Given the description of an element on the screen output the (x, y) to click on. 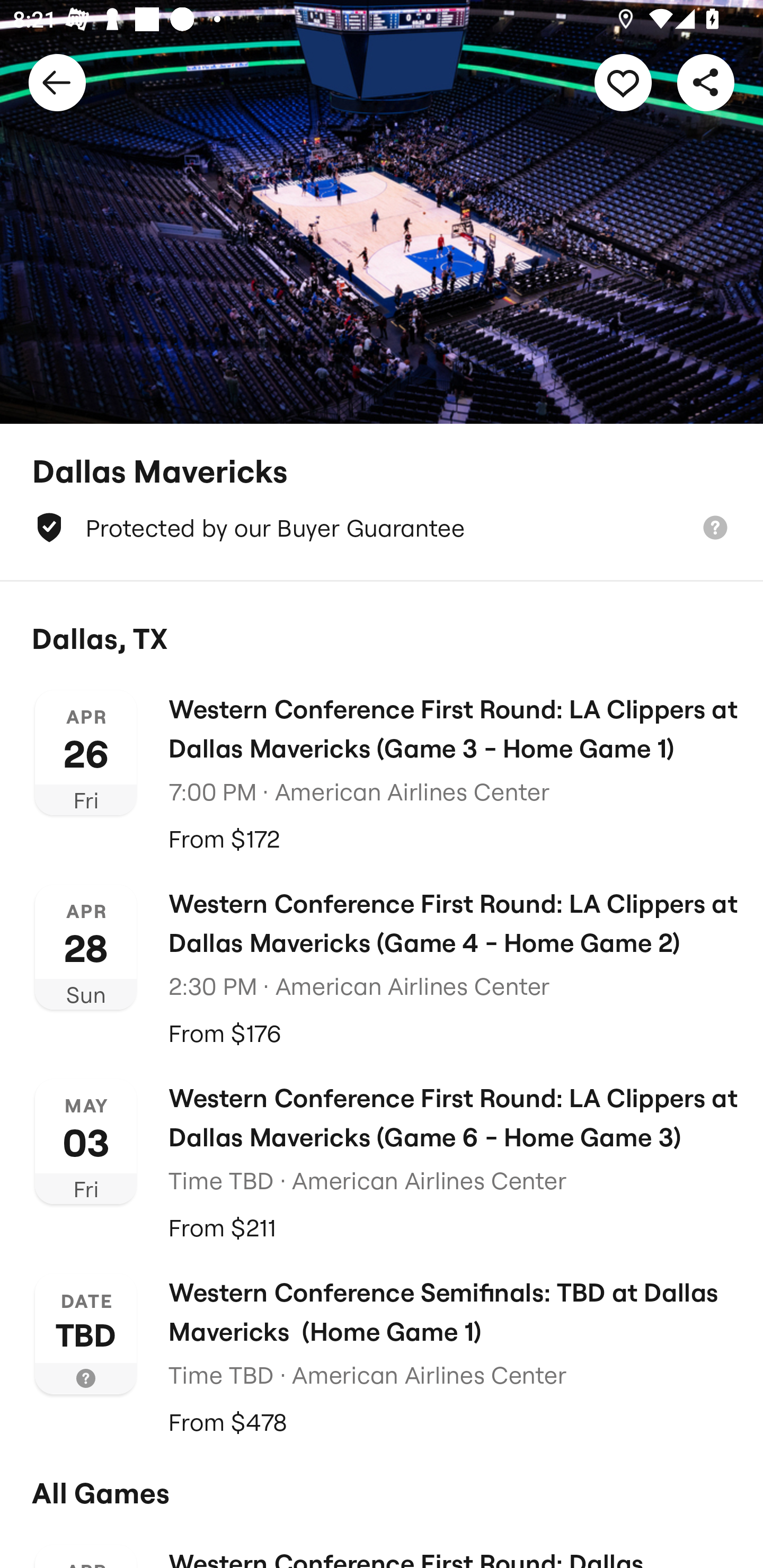
Back (57, 81)
Track this performer (623, 81)
Share this performer (705, 81)
Protected by our Buyer Guarantee Learn more (381, 527)
DATE TBD Learn more (85, 1333)
